Given the description of an element on the screen output the (x, y) to click on. 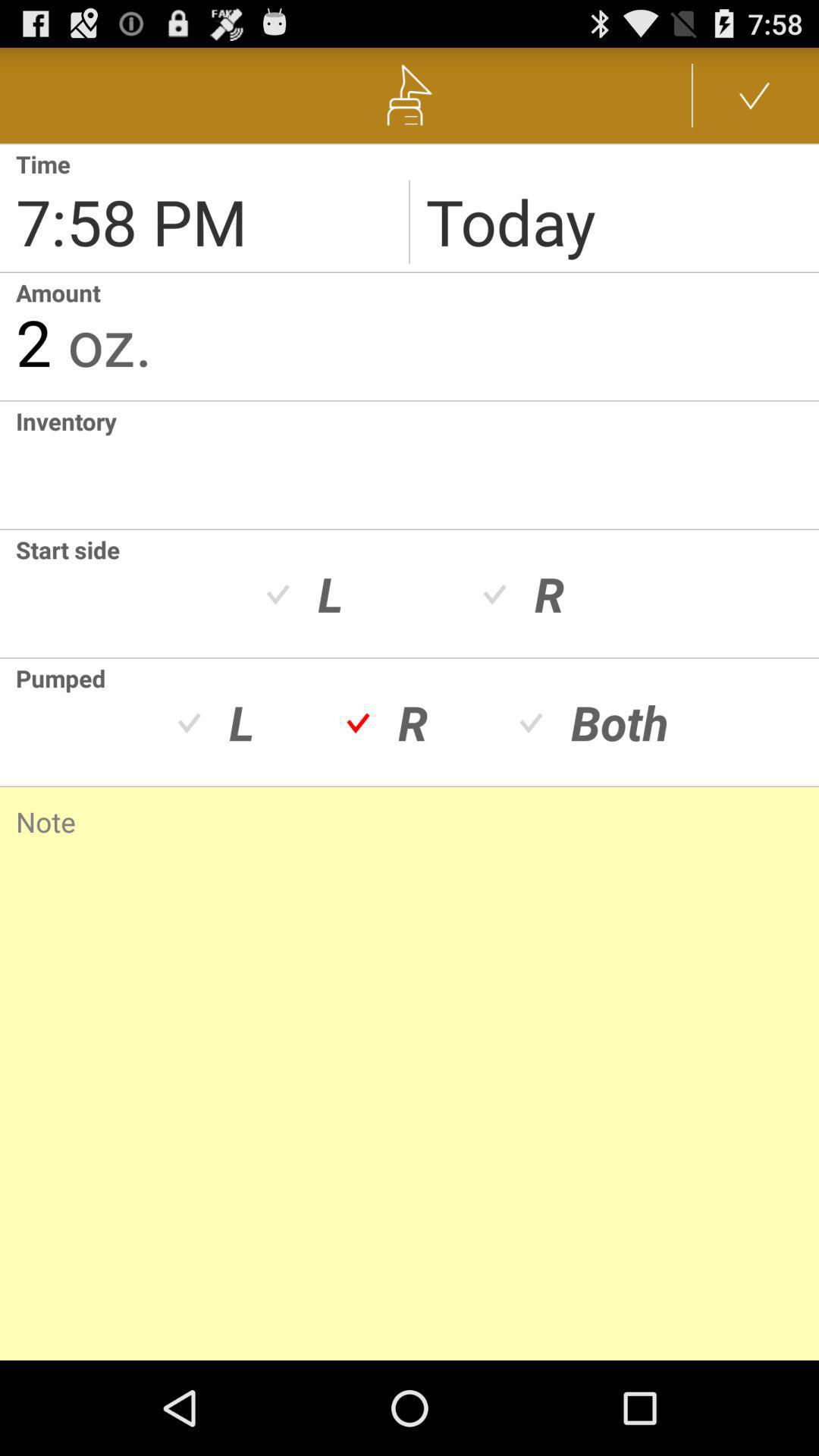
shows current time (204, 207)
